Given the description of an element on the screen output the (x, y) to click on. 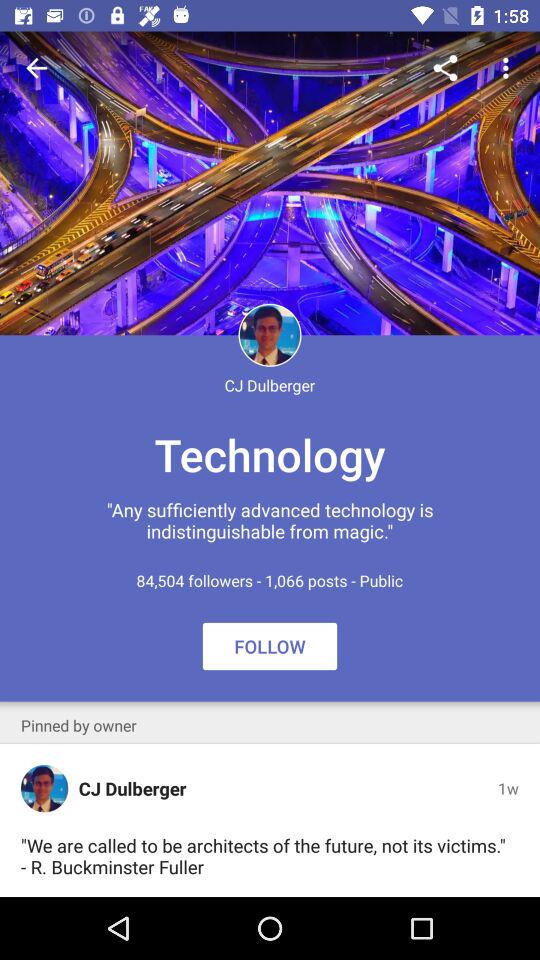
tap app below the pinned by owner (44, 788)
